Given the description of an element on the screen output the (x, y) to click on. 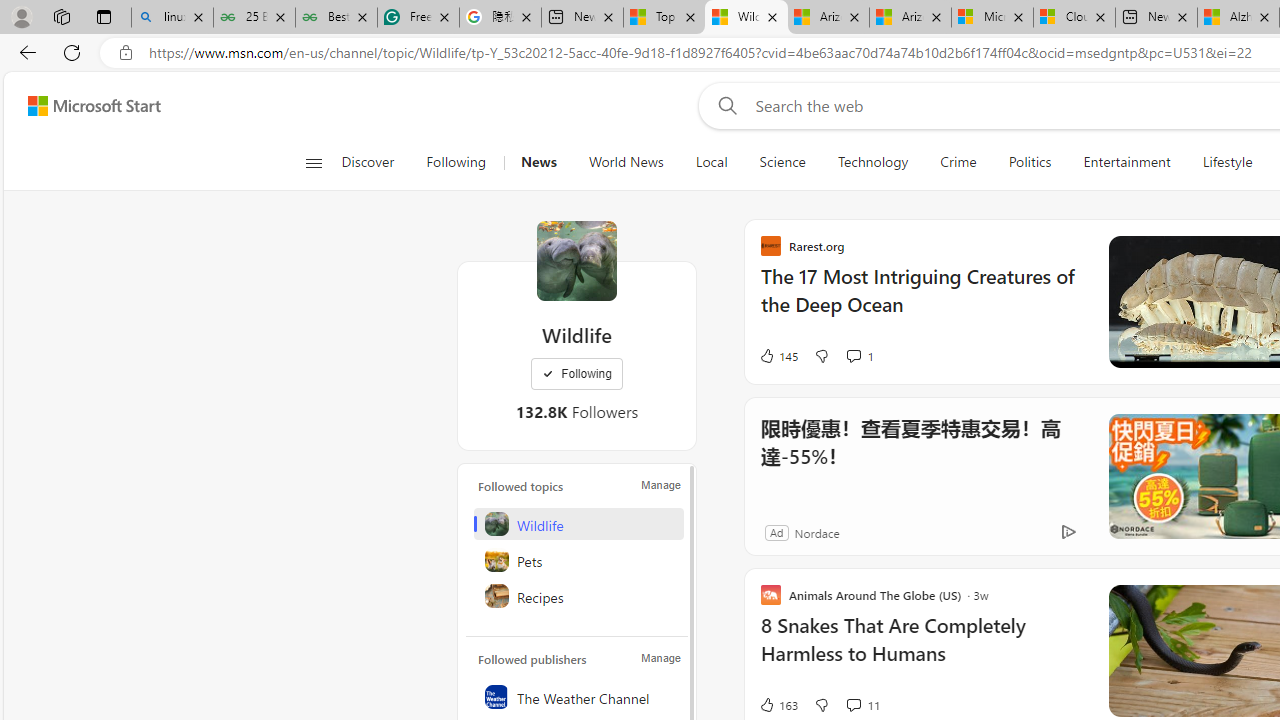
Cloud Computing Services | Microsoft Azure (1074, 17)
The Weather Channel (578, 696)
View comments 11 Comment (852, 704)
